Given the description of an element on the screen output the (x, y) to click on. 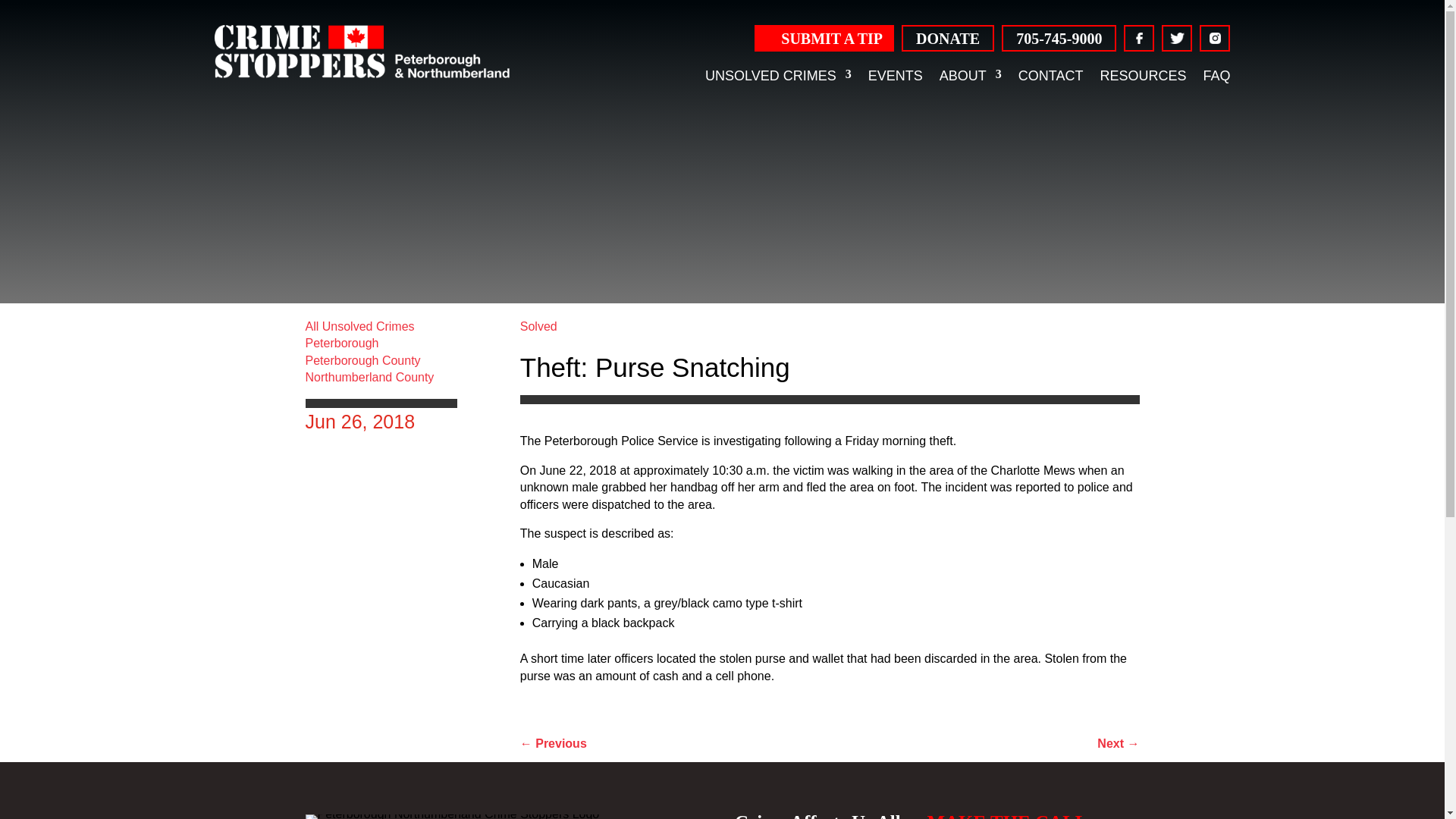
705-745-9000 (1058, 38)
Peterborough Northumberland Crime Stoppers Logo (451, 816)
RESOURCES (1142, 73)
SUBMIT A TIP (823, 38)
Solved (538, 326)
EVENTS (895, 73)
Peterborough Northumberland Crime Stoppers logo (361, 51)
ABOUT (970, 73)
Northumberland County (368, 377)
CONTACT (1050, 73)
